Given the description of an element on the screen output the (x, y) to click on. 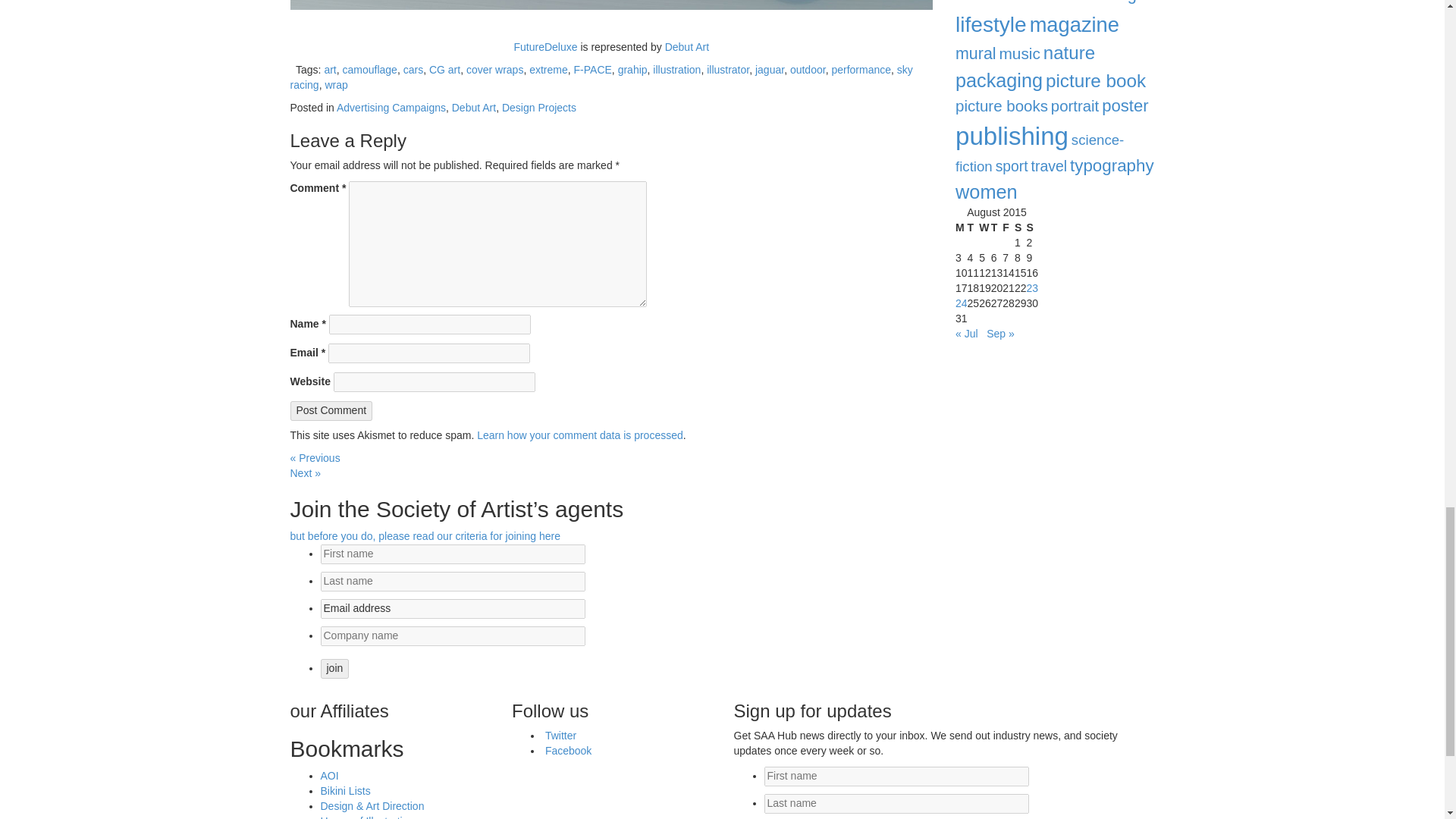
art (329, 69)
F-PACE (592, 69)
Post Comment (330, 410)
performance (861, 69)
cover wraps (493, 69)
Design Projects (539, 107)
Email address (452, 608)
camouflage (369, 69)
CG art (444, 69)
jaguar (769, 69)
Post Comment (330, 410)
Debut Art (687, 46)
Advertising Campaigns (390, 107)
wrap (335, 84)
illustrator (727, 69)
